Given the description of an element on the screen output the (x, y) to click on. 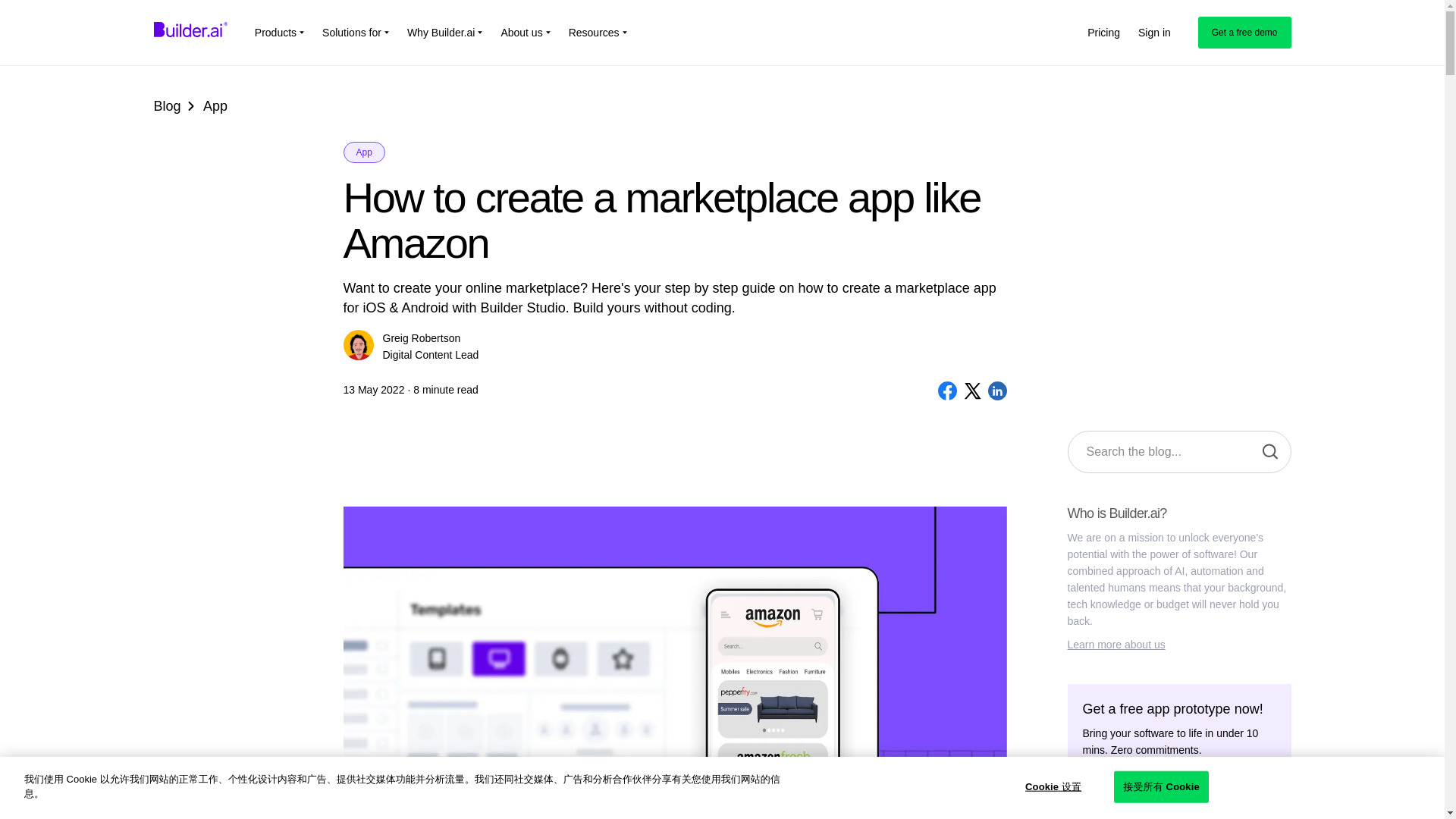
App (363, 151)
Get a free demo (1244, 32)
App (215, 106)
Blog (166, 106)
